Given the description of an element on the screen output the (x, y) to click on. 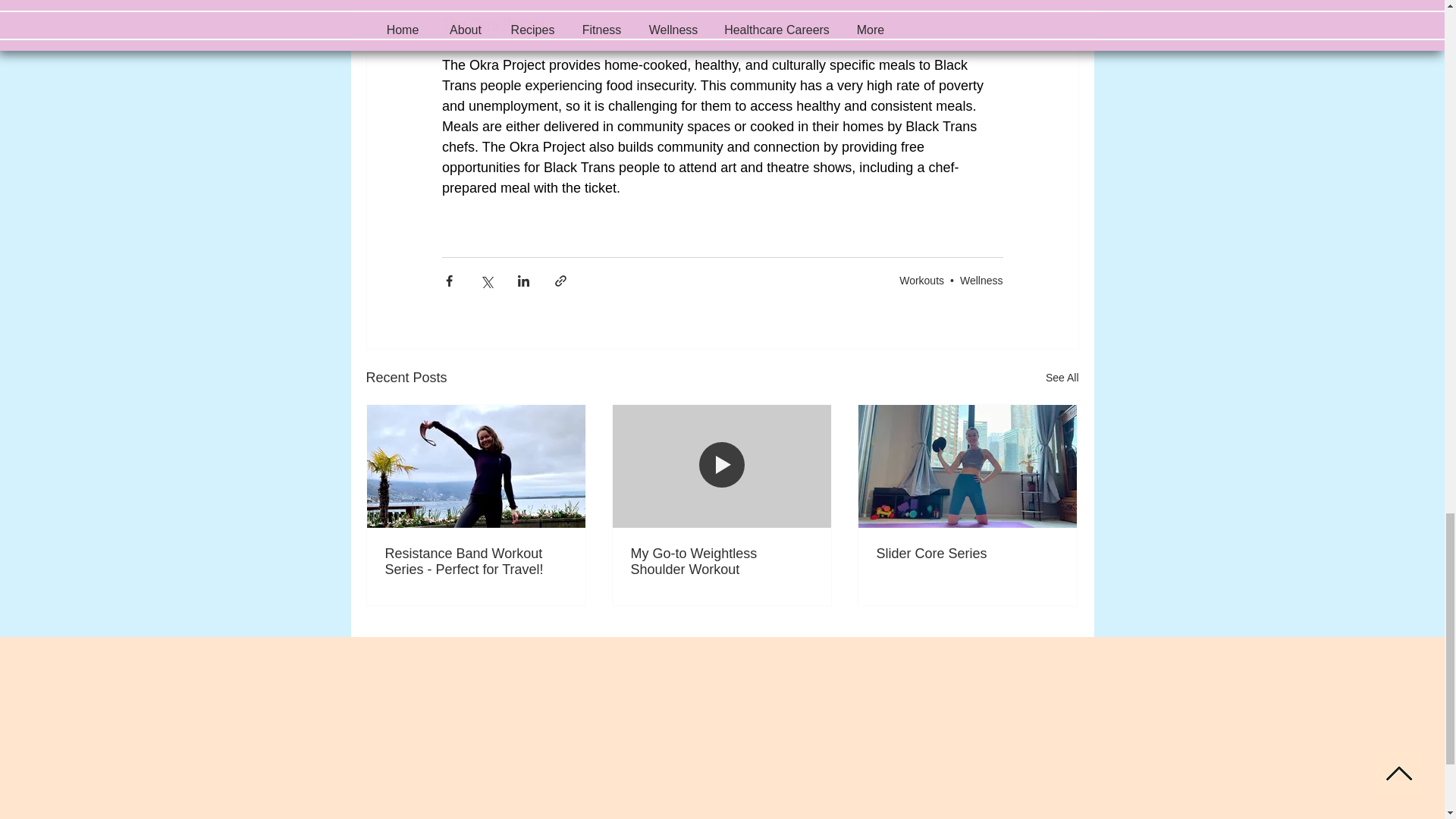
Wellness (981, 280)
Resistance Band Workout Series - Perfect for Travel! (476, 562)
Slider Core Series (967, 553)
The Okra Project (492, 23)
Workouts (921, 280)
My Go-to Weightless Shoulder Workout (721, 562)
See All (1061, 377)
